Given the description of an element on the screen output the (x, y) to click on. 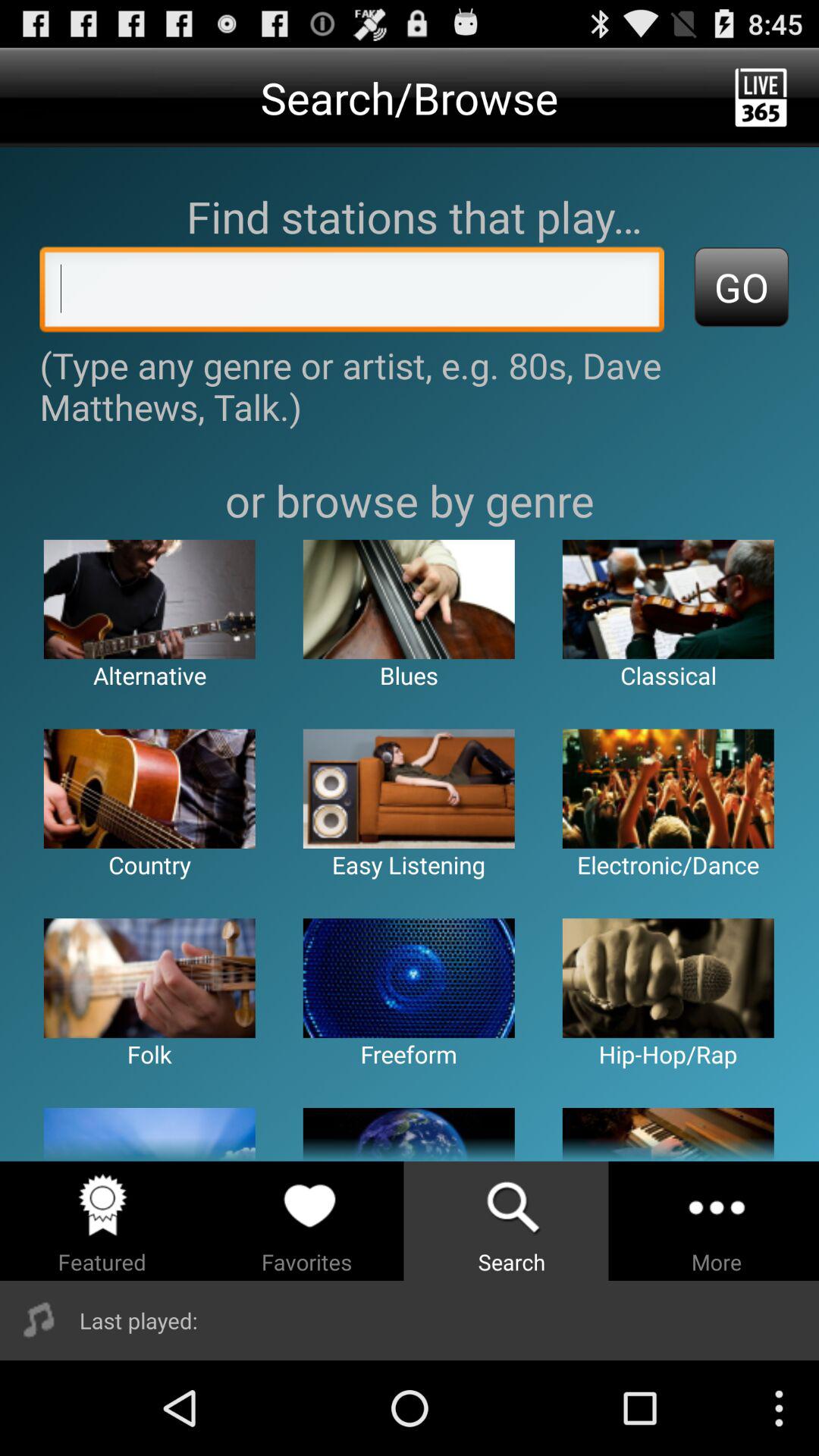
swipe until go (741, 287)
